Given the description of an element on the screen output the (x, y) to click on. 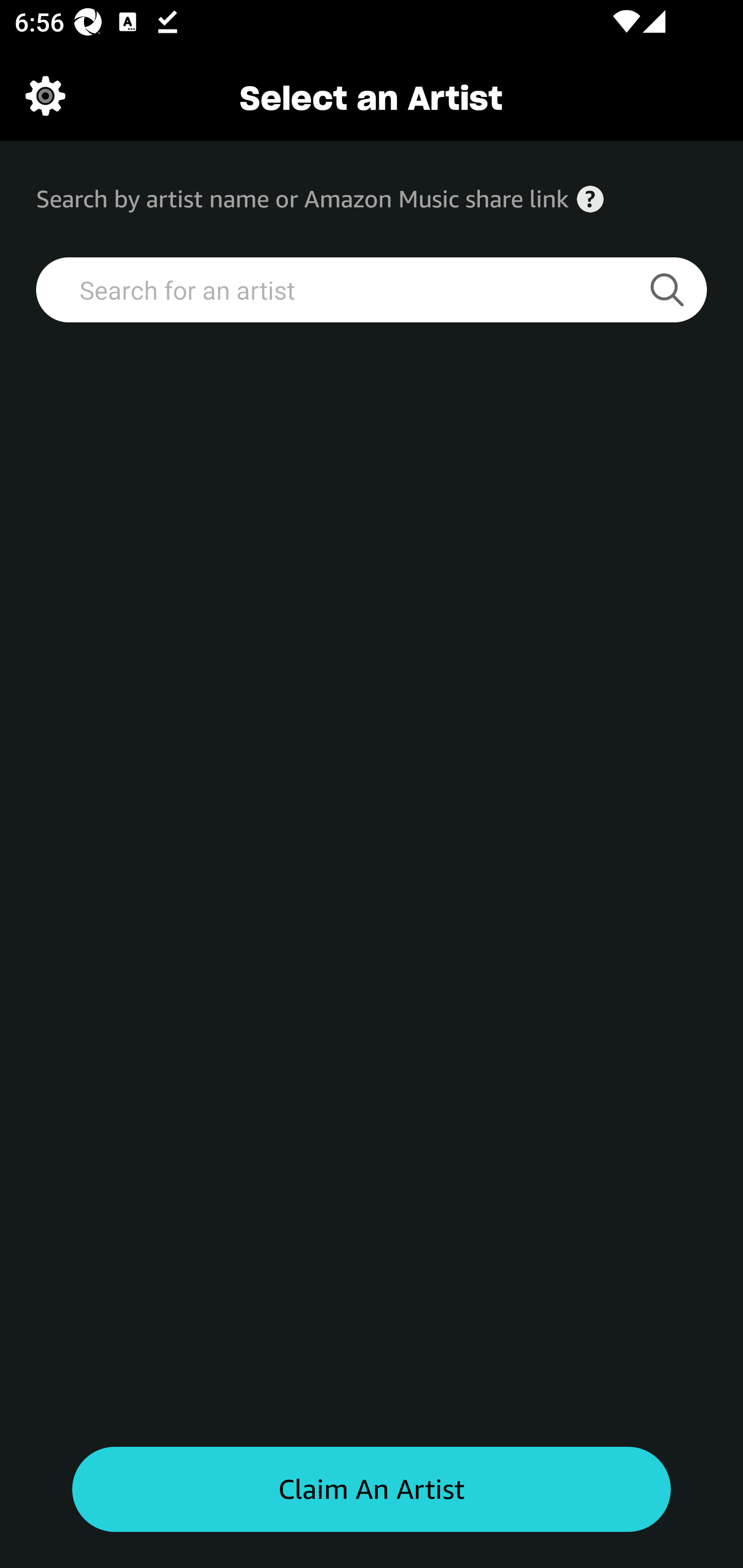
Help  icon (589, 199)
Claim an artist button Claim An Artist (371, 1489)
